Given the description of an element on the screen output the (x, y) to click on. 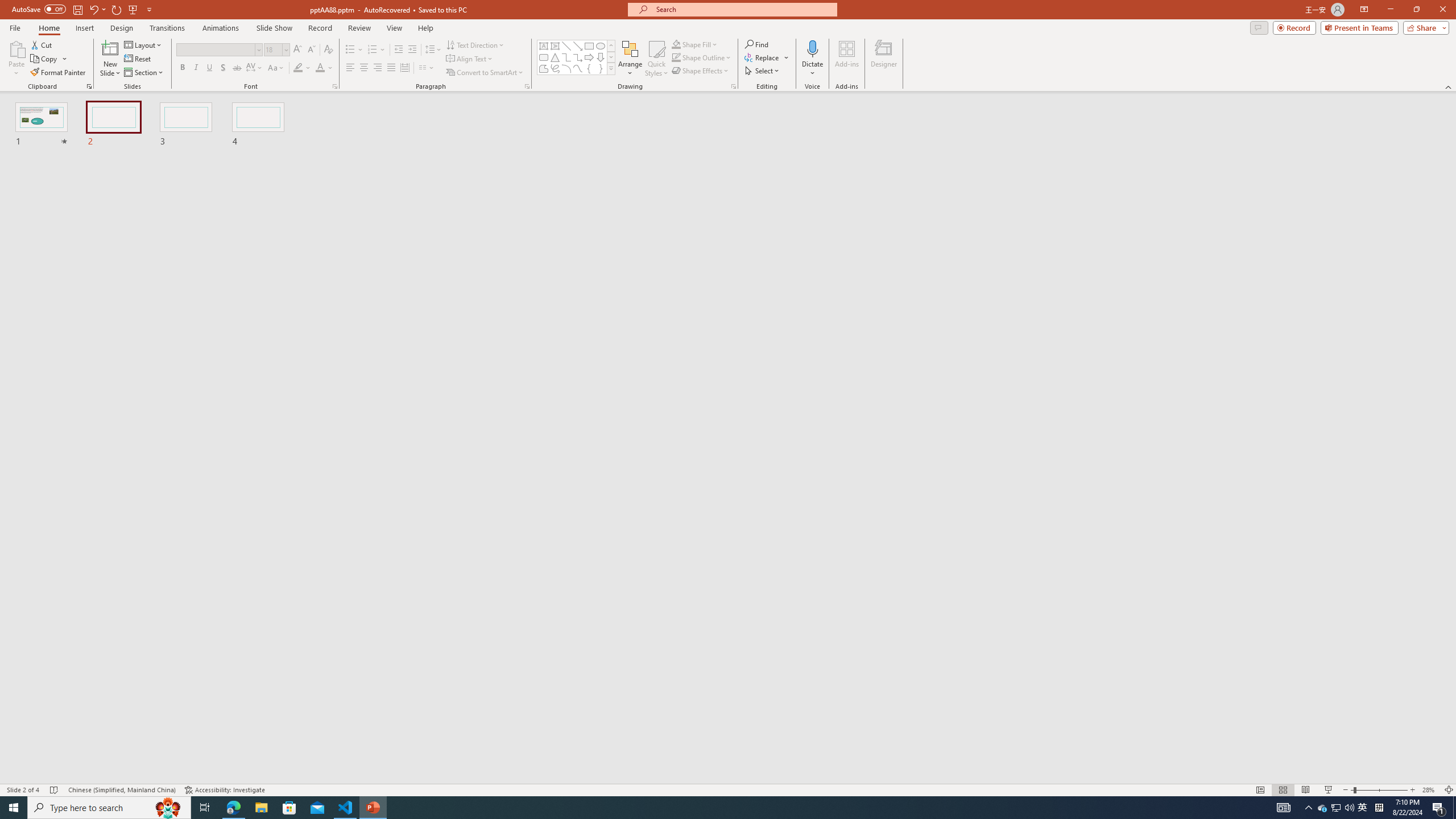
Line Arrow (577, 45)
Vertical Text Box (554, 45)
Quick Styles (656, 58)
Office Clipboard... (88, 85)
Freeform: Scribble (554, 68)
Text Highlight Color Yellow (297, 67)
Strikethrough (237, 67)
Find... (756, 44)
Align Right (377, 67)
Arc (566, 68)
Shape Outline Teal, Accent 1 (675, 56)
